Given the description of an element on the screen output the (x, y) to click on. 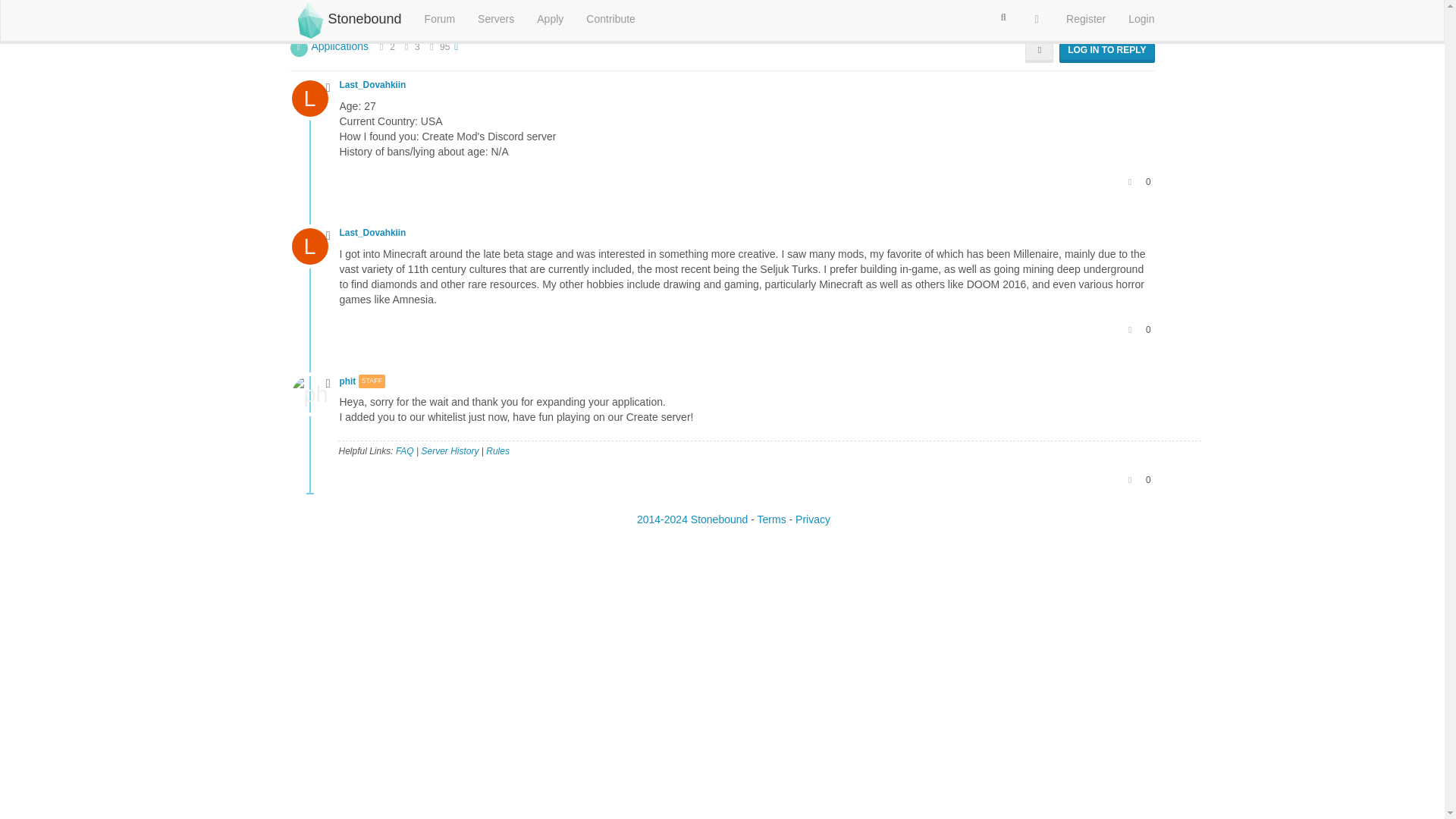
Search (1003, 17)
Contribute (610, 18)
LOG IN TO REPLY (1106, 50)
95 (444, 46)
Register (1085, 18)
Servers (495, 18)
Sort by (1038, 50)
L (315, 97)
Posters (381, 46)
Views (432, 46)
